Given the description of an element on the screen output the (x, y) to click on. 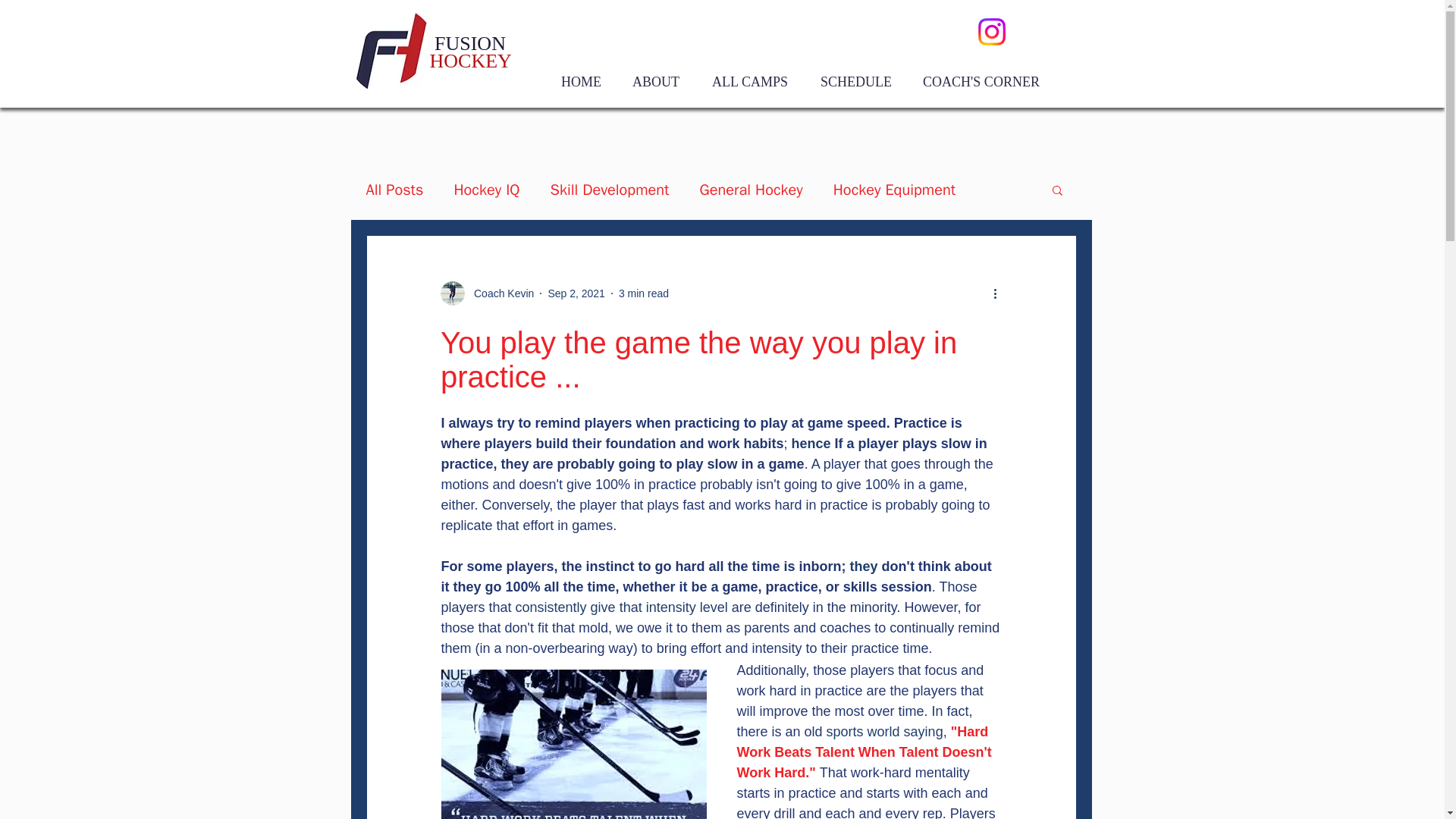
Sep 2, 2021 (576, 292)
Coach Kevin (487, 293)
3 min read (643, 292)
HOME (580, 81)
Hockey IQ (485, 189)
SCHEDULE (856, 81)
ABOUT (655, 81)
COACH'S CORNER (980, 81)
General Hockey (750, 189)
Skill Development (609, 189)
All Posts (394, 189)
Coach Kevin (499, 293)
ALL CAMPS (750, 81)
Hockey Equipment (893, 189)
